Given the description of an element on the screen output the (x, y) to click on. 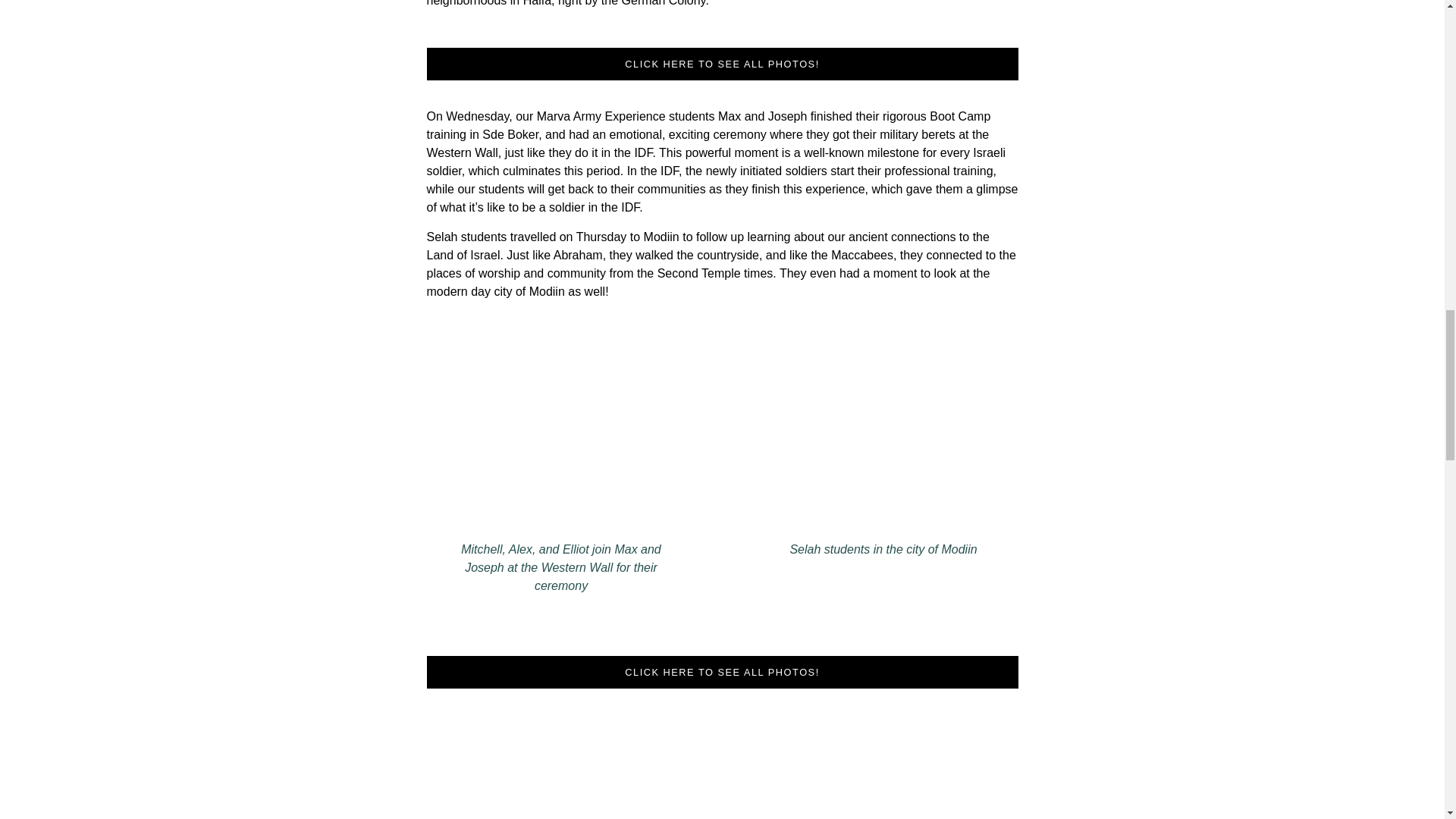
Weekly Updates - February 17, 2022 8 (721, 767)
Weekly Updates - February 17, 2022 7 (882, 450)
Weekly Updates - February 17, 2022 6 (561, 450)
